Given the description of an element on the screen output the (x, y) to click on. 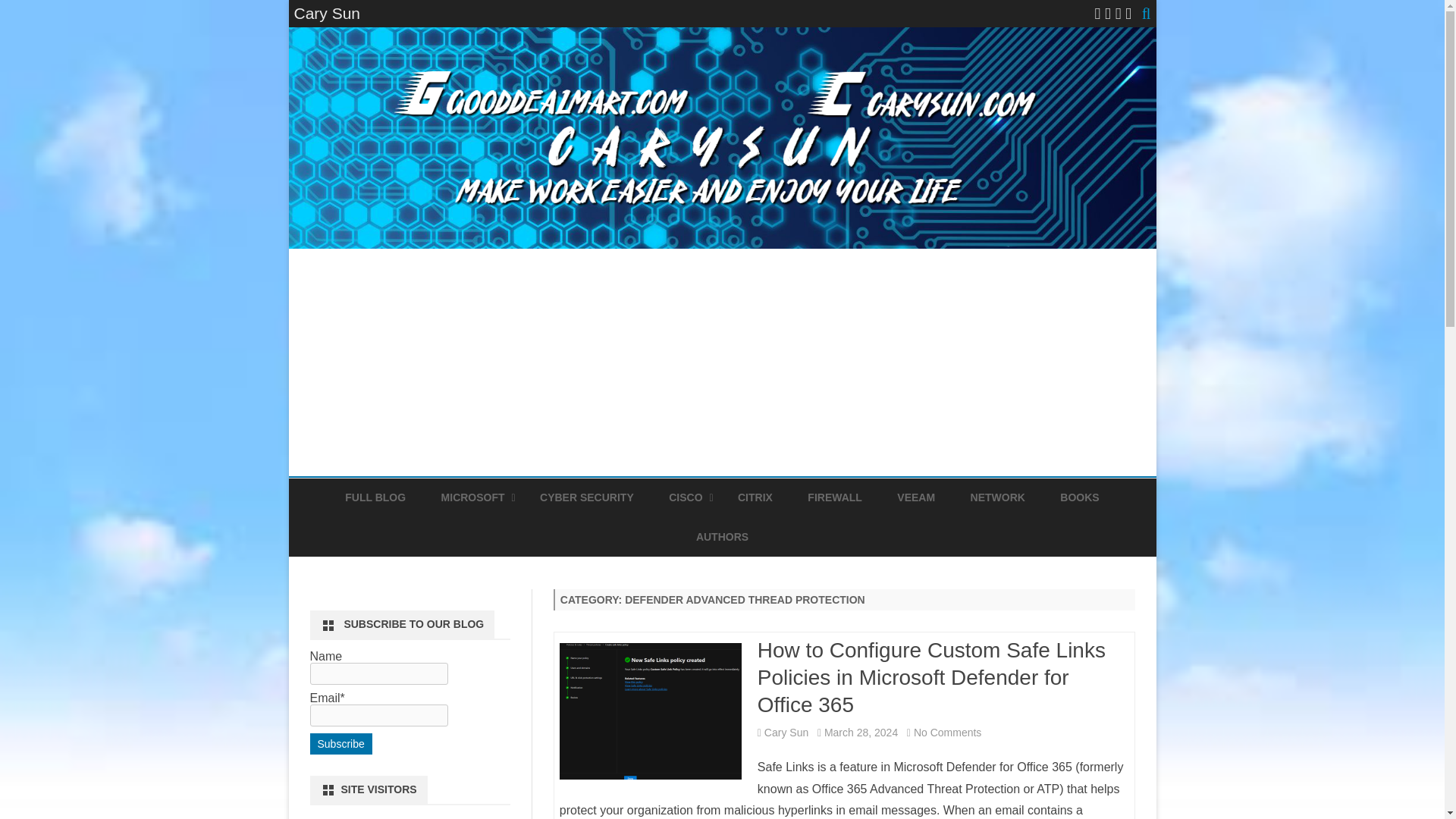
MICROSOFT (473, 497)
AZURE (516, 532)
FULL BLOG (375, 497)
Subscribe (339, 743)
CYBER SECURITY (586, 497)
